Given the description of an element on the screen output the (x, y) to click on. 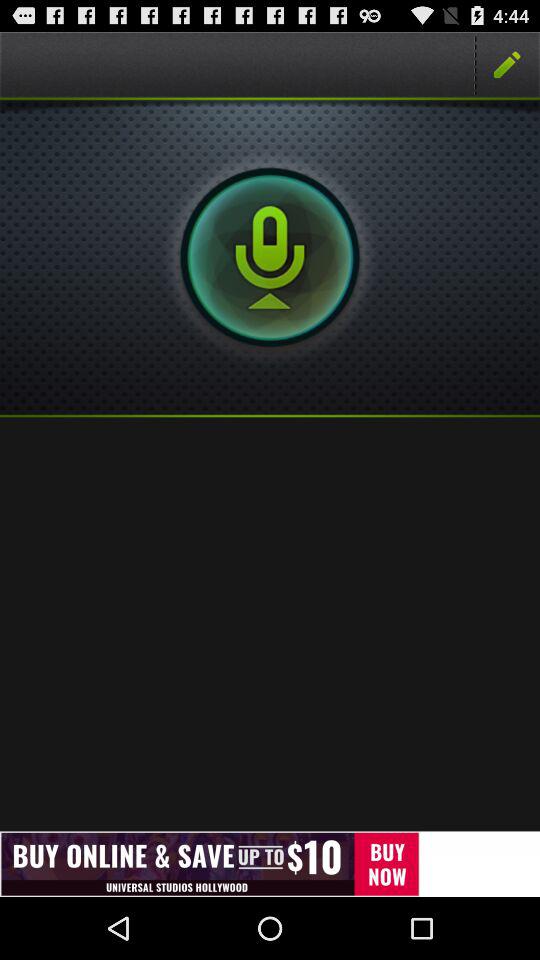
open the item at the top (270, 257)
